Given the description of an element on the screen output the (x, y) to click on. 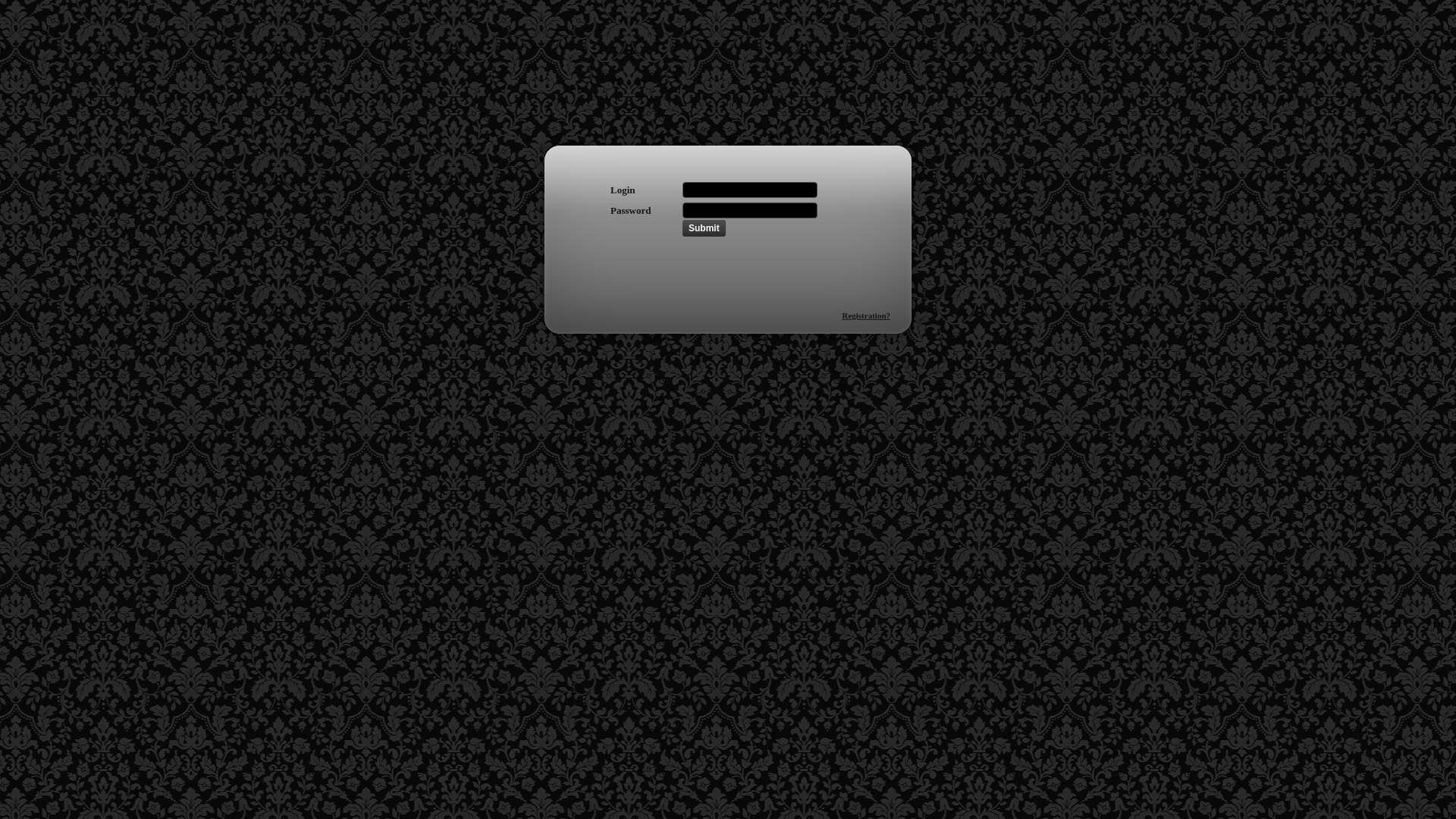
Registration? Element type: text (865, 315)
Submit Element type: text (703, 227)
